Given the description of an element on the screen output the (x, y) to click on. 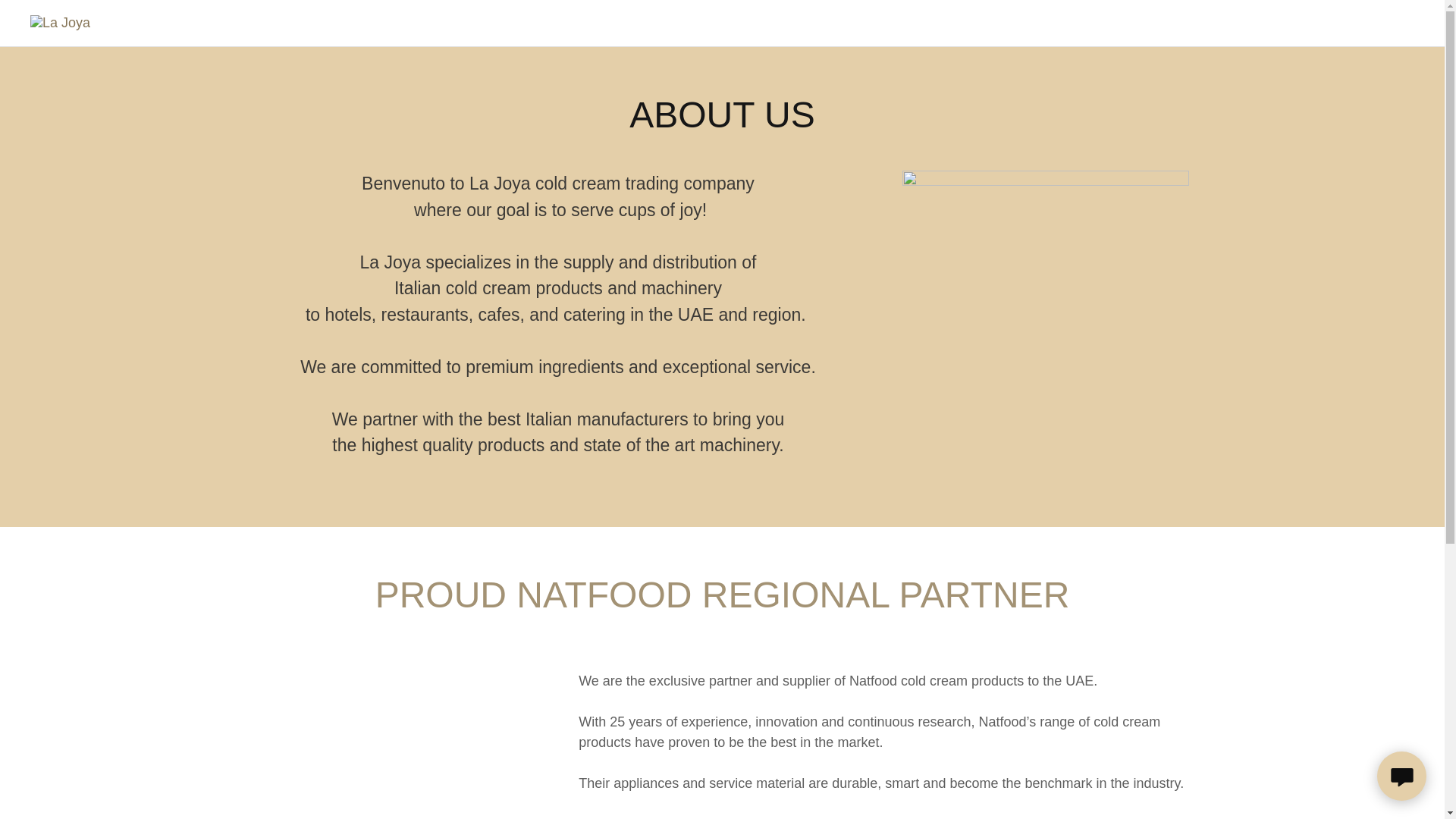
La Joya (60, 22)
